Given the description of an element on the screen output the (x, y) to click on. 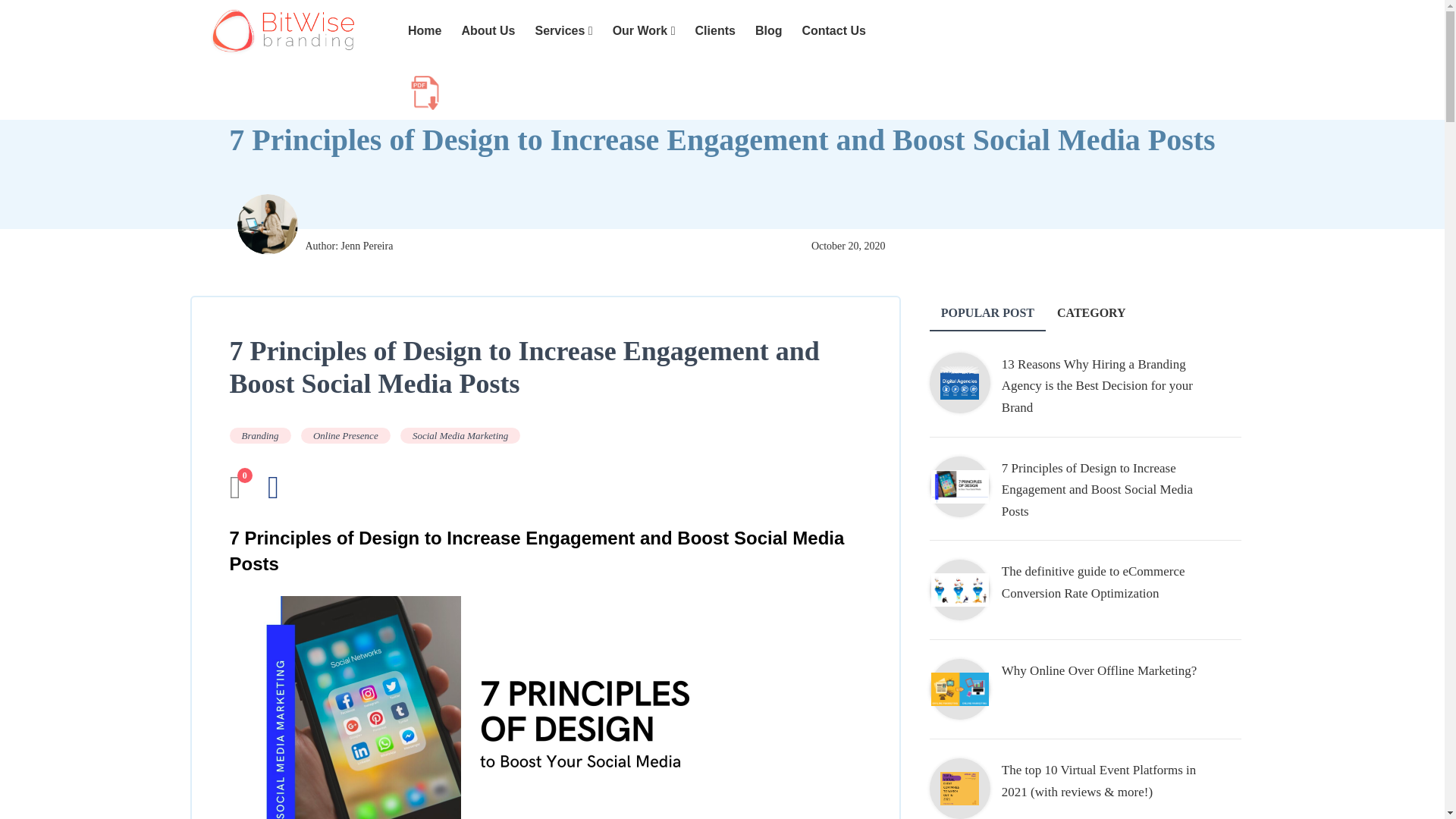
Branding (258, 435)
0 (234, 494)
Our Work (643, 31)
Services (563, 31)
Contact Us (833, 31)
Social Media Marketing (459, 435)
Online Presence (345, 435)
